Given the description of an element on the screen output the (x, y) to click on. 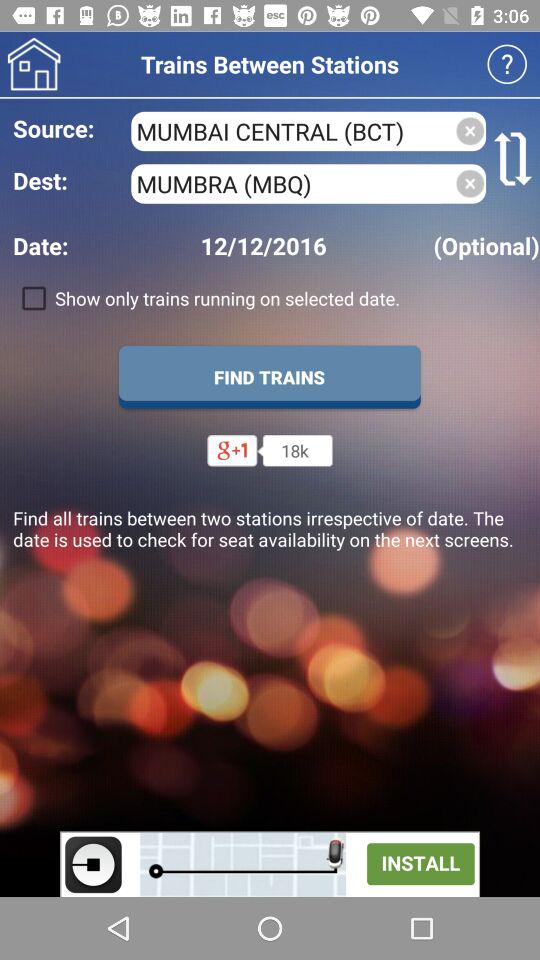
select the close button (470, 183)
